Given the description of an element on the screen output the (x, y) to click on. 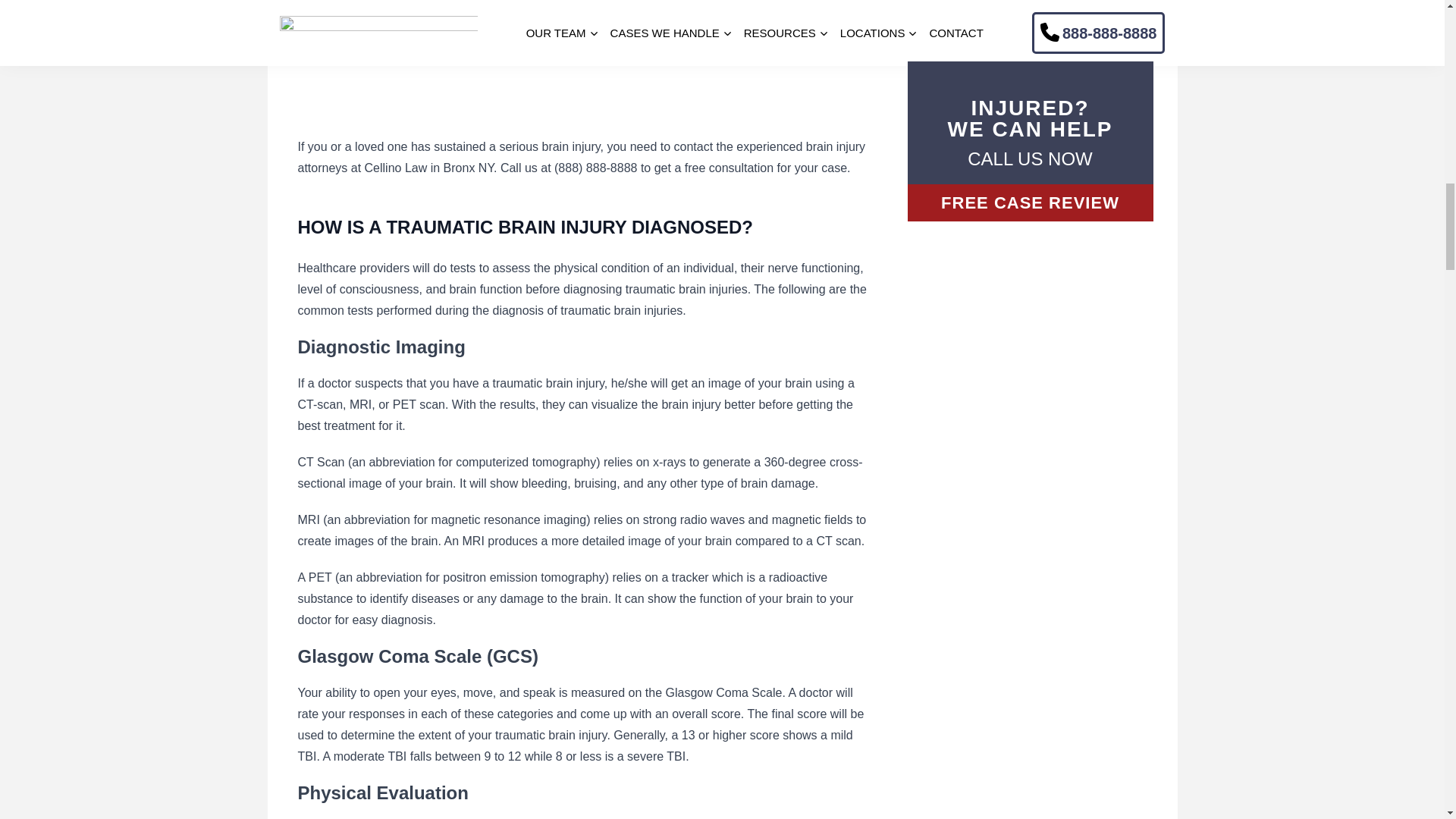
Bronx Traumatic Brain Injury Lawyer (487, 60)
